Given the description of an element on the screen output the (x, y) to click on. 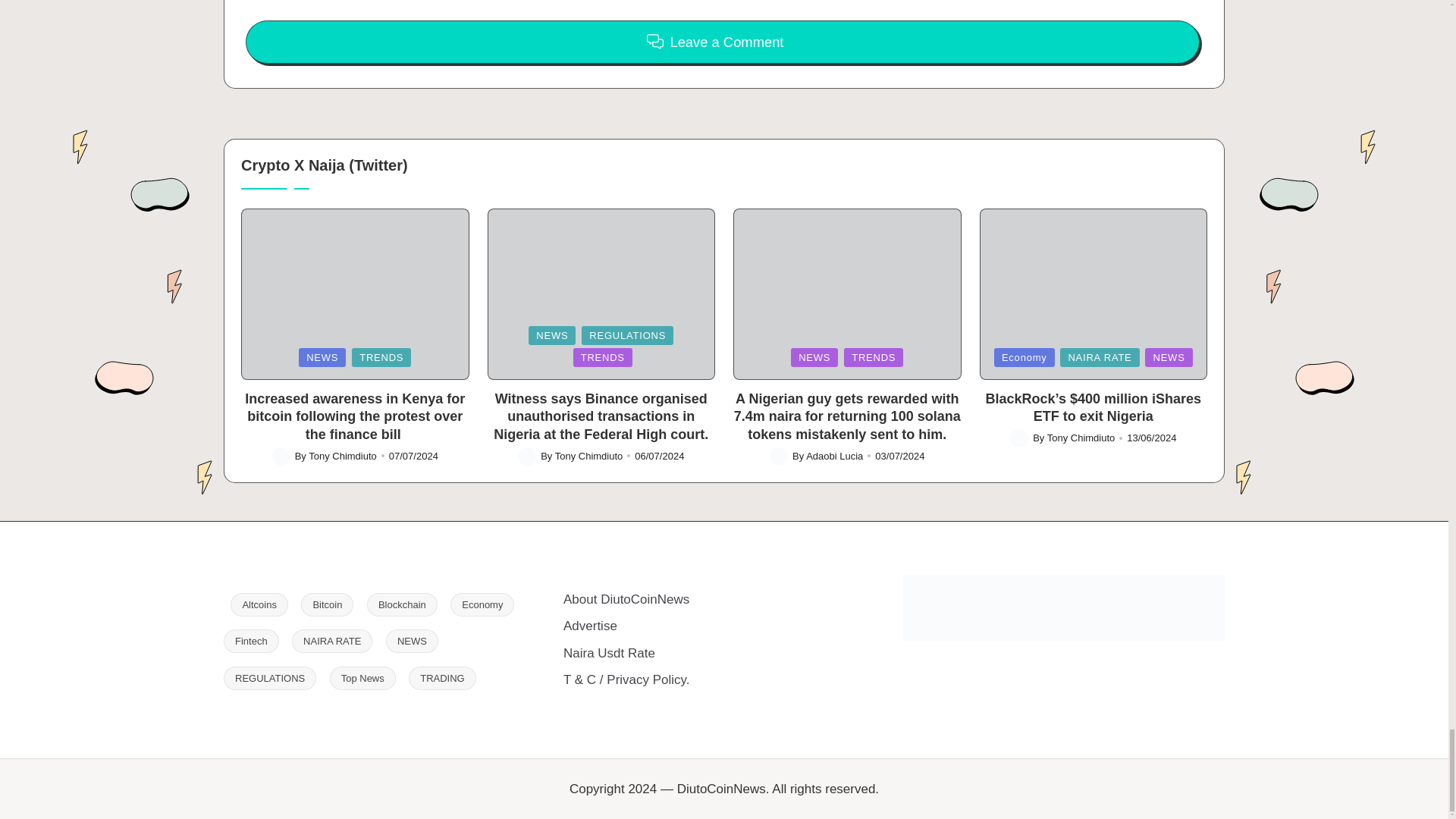
View all posts by Tony Chimdiuto (1080, 437)
View all posts by Tony Chimdiuto (342, 455)
View all posts by Adaobi Lucia (834, 455)
View all posts by Tony Chimdiuto (588, 455)
